Given the description of an element on the screen output the (x, y) to click on. 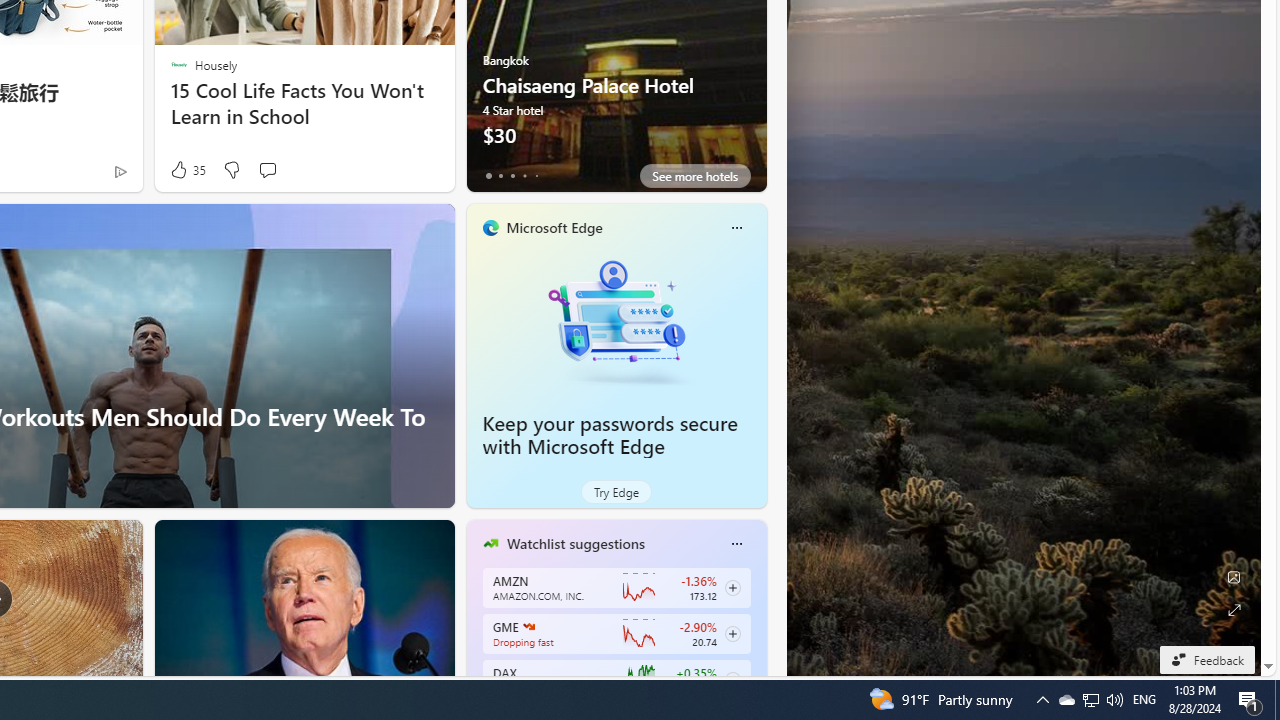
tab-0 (488, 175)
Try Edge (616, 491)
Edit Background (1233, 577)
Watchlist suggestions (575, 543)
GAMESTOP CORP. (528, 626)
35 Like (186, 170)
Class: follow-button  m (732, 679)
tab-2 (511, 175)
Keep your passwords secure with Microsoft Edge (616, 321)
See more hotels (694, 175)
Expand background (1233, 610)
tab-4 (535, 175)
